Given the description of an element on the screen output the (x, y) to click on. 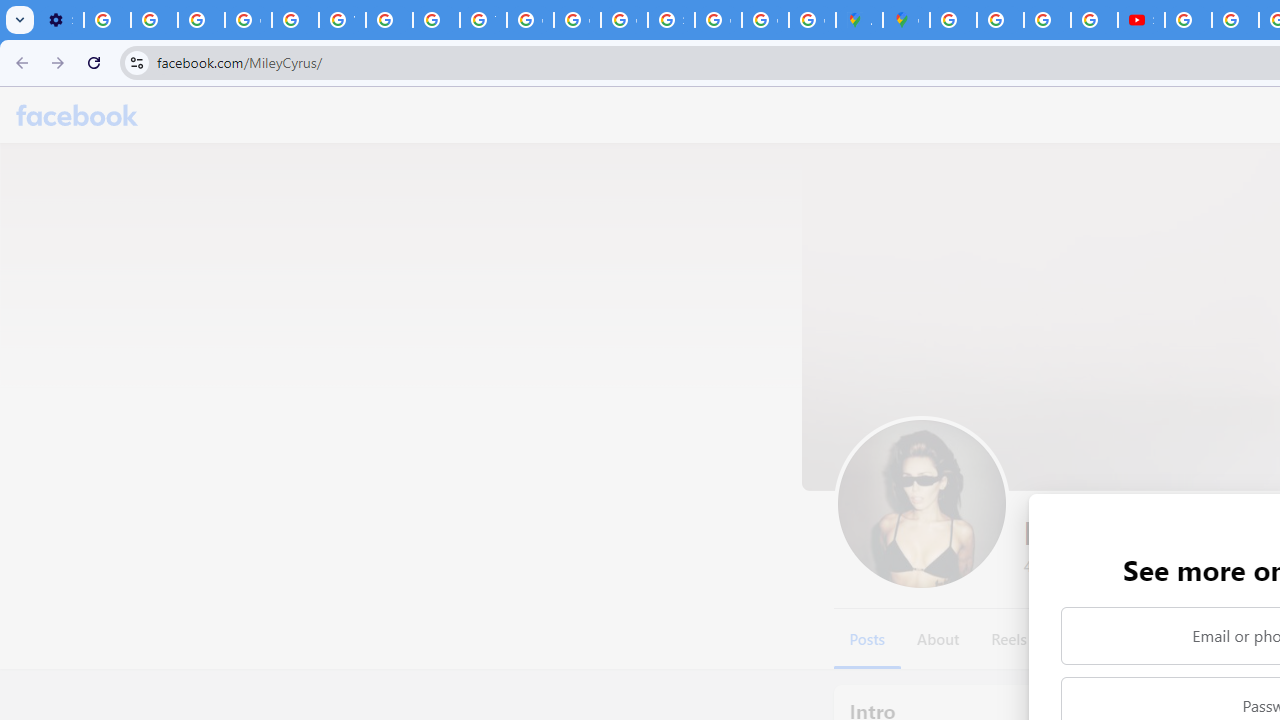
View site information (136, 62)
Blogger Policies and Guidelines - Transparency Center (953, 20)
Facebook (77, 114)
https://scholar.google.com/ (389, 20)
Google Account Help (248, 20)
Settings - Customize profile (60, 20)
Privacy Help Center - Policies Help (1047, 20)
Learn how to find your photos - Google Photos Help (153, 20)
